Given the description of an element on the screen output the (x, y) to click on. 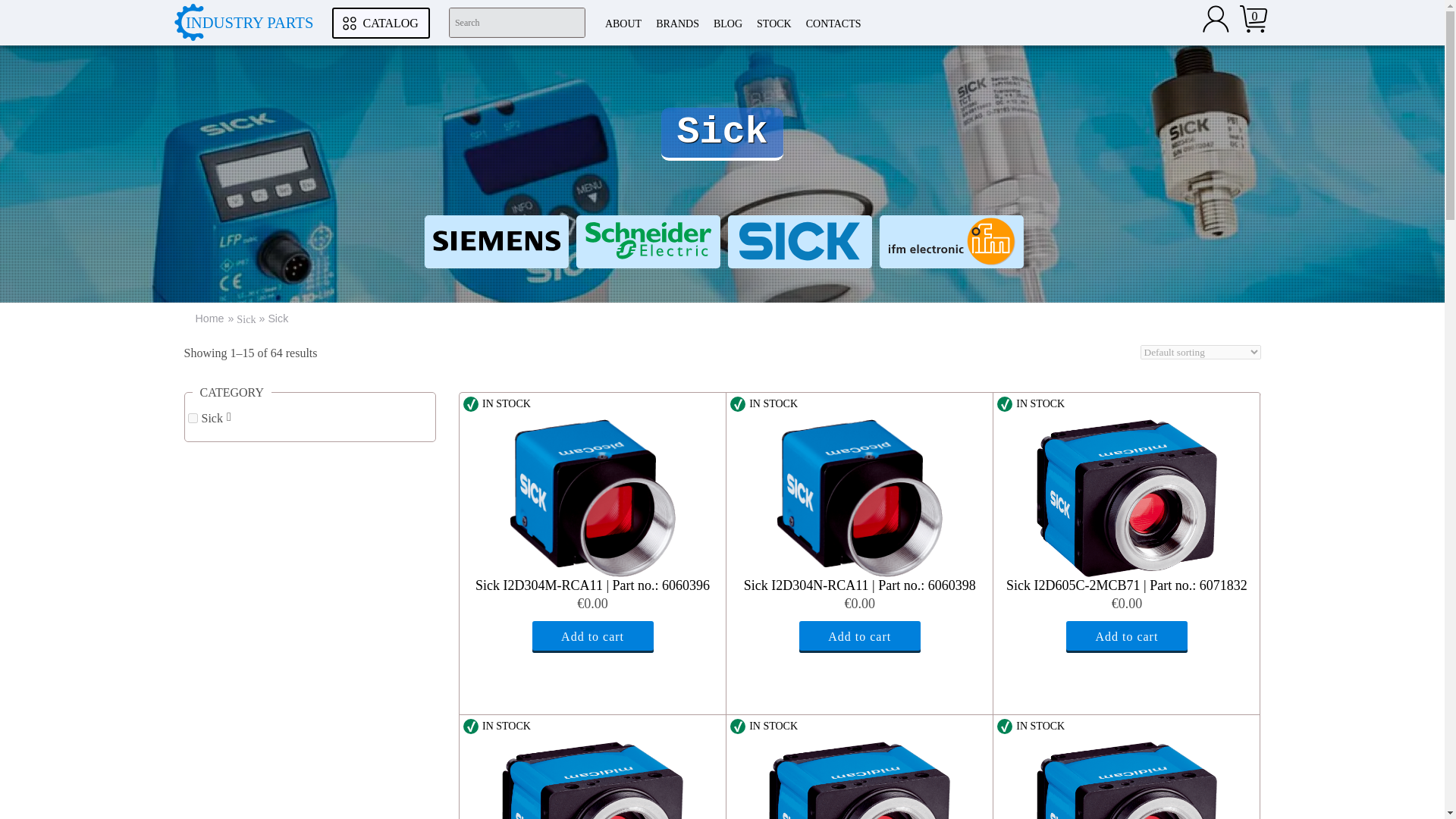
314 (192, 418)
0 (1253, 18)
